Given the description of an element on the screen output the (x, y) to click on. 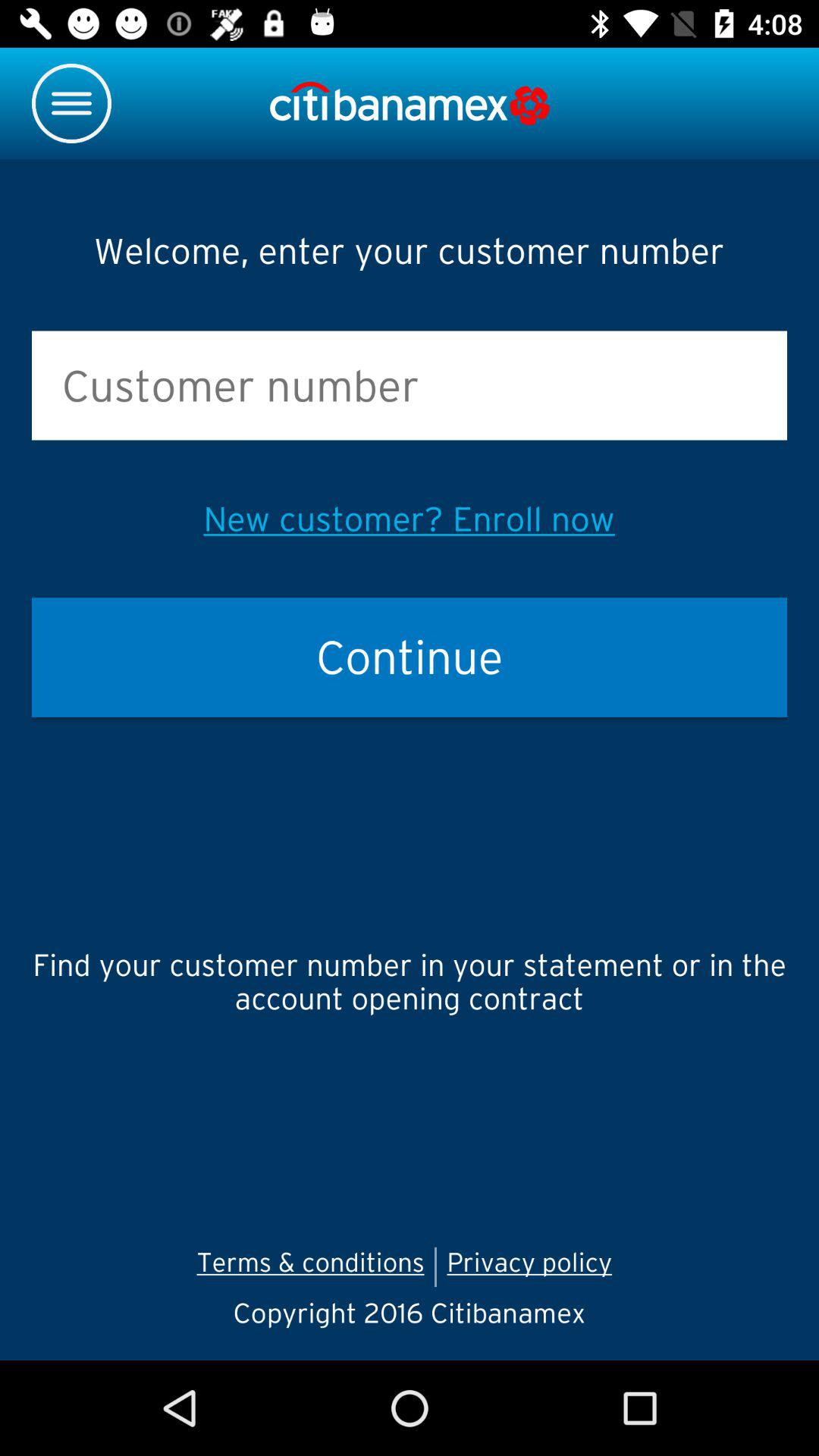
click the item above find your customer icon (409, 657)
